Given the description of an element on the screen output the (x, y) to click on. 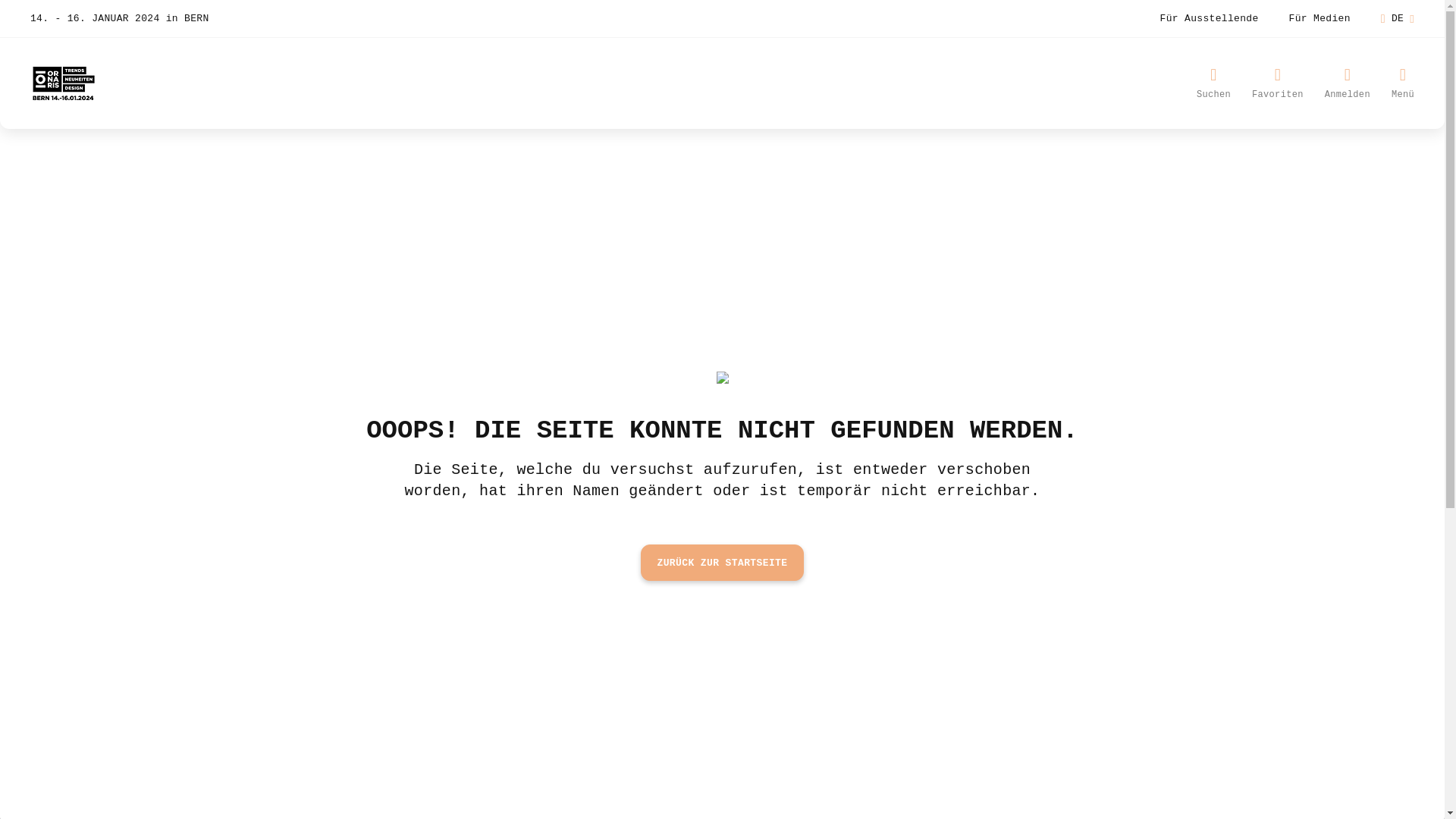
Datenschutz Element type: text (454, 789)
Favoriten Element type: text (1277, 83)
Consent Choices Element type: text (556, 789)
Anmelden Element type: text (1347, 83)
NEWSLETTER BESTELLEN Element type: text (523, 670)
Impressum Element type: text (248, 789)
Disclaimer Element type: text (329, 789)
Suchen Element type: text (1213, 83)
AGB Element type: text (390, 789)
